Given the description of an element on the screen output the (x, y) to click on. 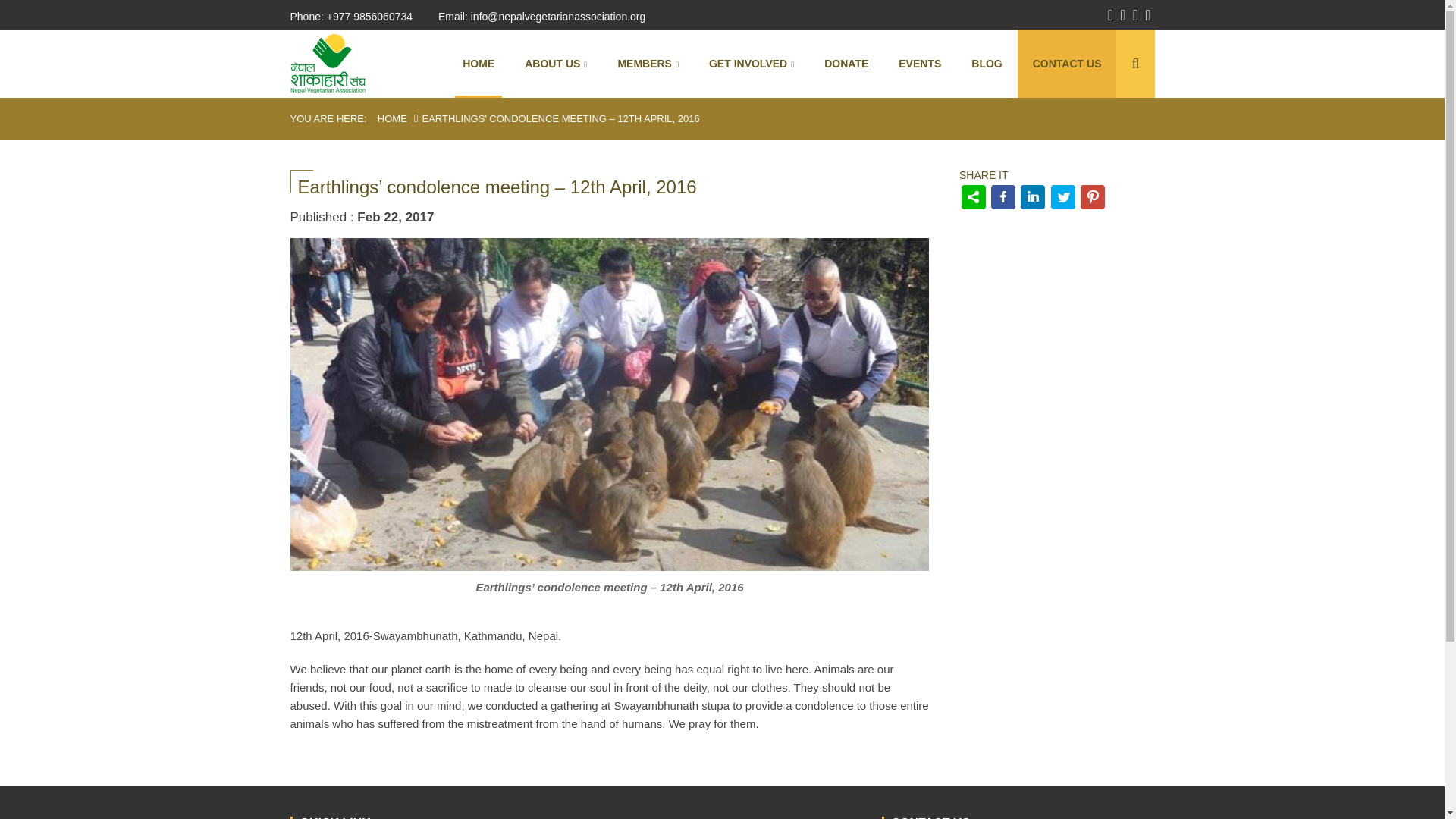
Members (648, 63)
BLOG (986, 63)
Donate (846, 63)
Events (919, 63)
EVENTS (919, 63)
Get Involved (751, 63)
GET INVOLVED (751, 63)
HOME (477, 63)
About Us (555, 63)
DONATE (846, 63)
